Given the description of an element on the screen output the (x, y) to click on. 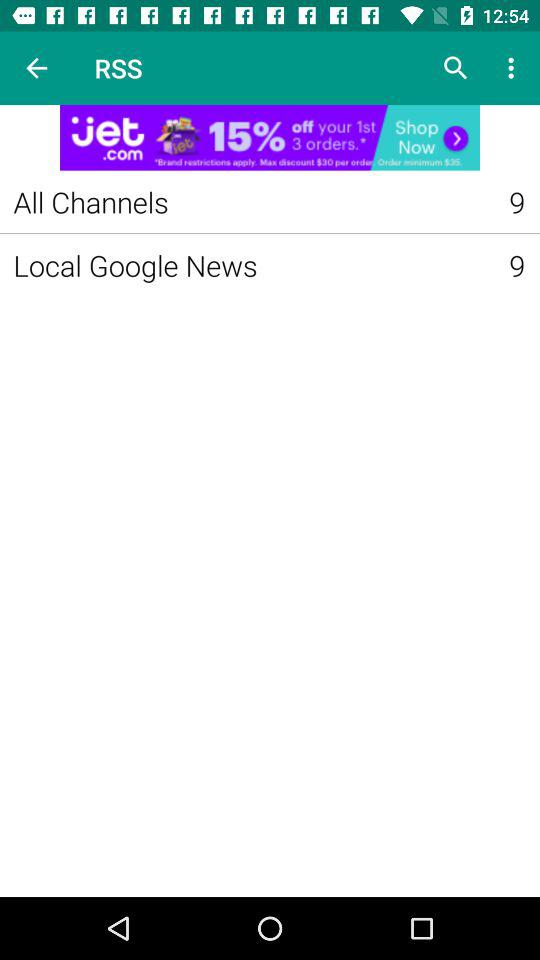
what to search (455, 67)
